Given the description of an element on the screen output the (x, y) to click on. 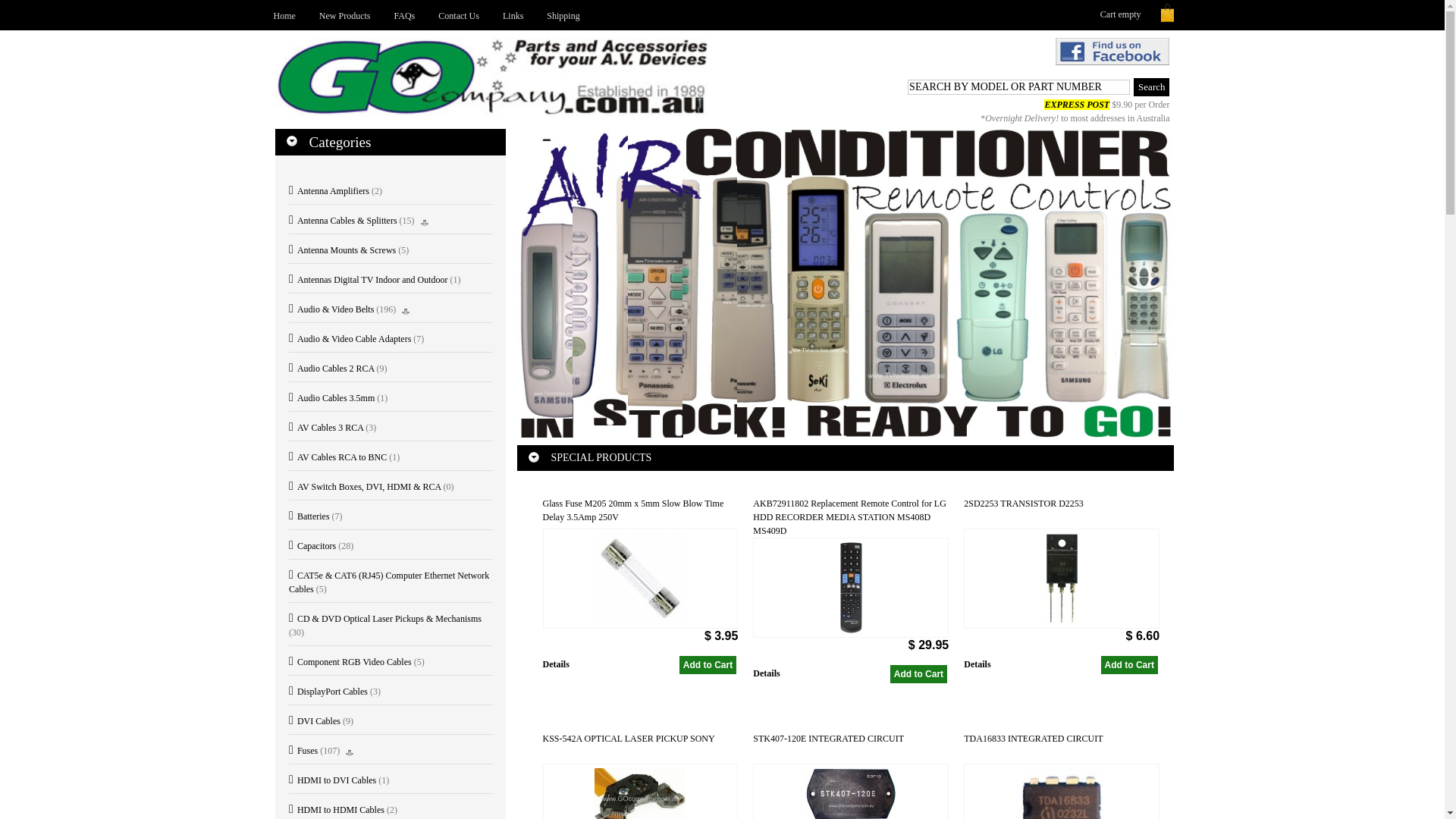
Add to Cart Element type: hover (1129, 664)
DisplayPort Cables Element type: text (327, 691)
HDMI to HDMI Cables Element type: text (336, 809)
Search Element type: text (1151, 87)
TDA16833 INTEGRATED CIRCUIT Element type: text (1061, 747)
Antenna Amplifiers Element type: text (328, 190)
CD & DVD Optical Laser Pickups & Mechanisms Element type: text (384, 618)
Glass Fuse M205 20mm x 5mm Slow Blow Time Delay 3.5Amp 250V Element type: hover (640, 578)
FAQs Element type: text (404, 15)
Component RGB Video Cables Element type: text (349, 661)
Add to Cart Element type: text (1129, 664)
Antenna Cables & Splitters Element type: text (342, 220)
HDMI to DVI Cables Element type: text (332, 780)
Glass Fuse M205 20mm x 5mm Slow Blow Time Delay 3.5Amp 250V Element type: text (640, 512)
Add to Cart Element type: hover (707, 664)
AV Cables RCA to BNC Element type: text (337, 456)
Details Element type: text (800, 682)
KSS-542A OPTICAL LASER PICKUP SONY Element type: text (640, 747)
Home Element type: text (283, 15)
Links Element type: text (512, 15)
Audio Cables 2 RCA Element type: text (331, 368)
Add to Cart Element type: text (707, 664)
2SD2253 TRANSISTOR D2253 Element type: hover (1061, 578)
New Products Element type: text (344, 15)
EXPRESS POST $9.90 per Order Element type: text (1106, 104)
Audio Cables 3.5mm Element type: text (331, 397)
Details Element type: text (1011, 673)
AV Switch Boxes, DVI, HDMI & RCA Element type: text (364, 486)
Fuses Element type: text (302, 750)
Add to Cart Element type: text (918, 674)
Shipping Element type: text (562, 15)
Batteries Element type: text (308, 516)
DVI Cables Element type: text (314, 720)
Capacitors Element type: text (311, 545)
AV Cables 3 RCA Element type: text (325, 427)
*Overnight Delivery! to most addresses in Australia Element type: text (1074, 117)
Antenna Mounts & Screws Element type: text (341, 249)
Antennas Digital TV Indoor and Outdoor Element type: text (367, 279)
2SD2253 TRANSISTOR D2253 Element type: text (1061, 512)
STK407-120E INTEGRATED CIRCUIT Element type: text (850, 747)
Contact Us Element type: text (458, 15)
Add to Cart Element type: hover (918, 674)
CAT5e & CAT6 (RJ45) Computer Ethernet Network Cables Element type: text (388, 582)
Details Element type: text (590, 673)
Audio & Video Cable Adapters Element type: text (349, 338)
Audio & Video Belts Element type: text (330, 309)
